Given the description of an element on the screen output the (x, y) to click on. 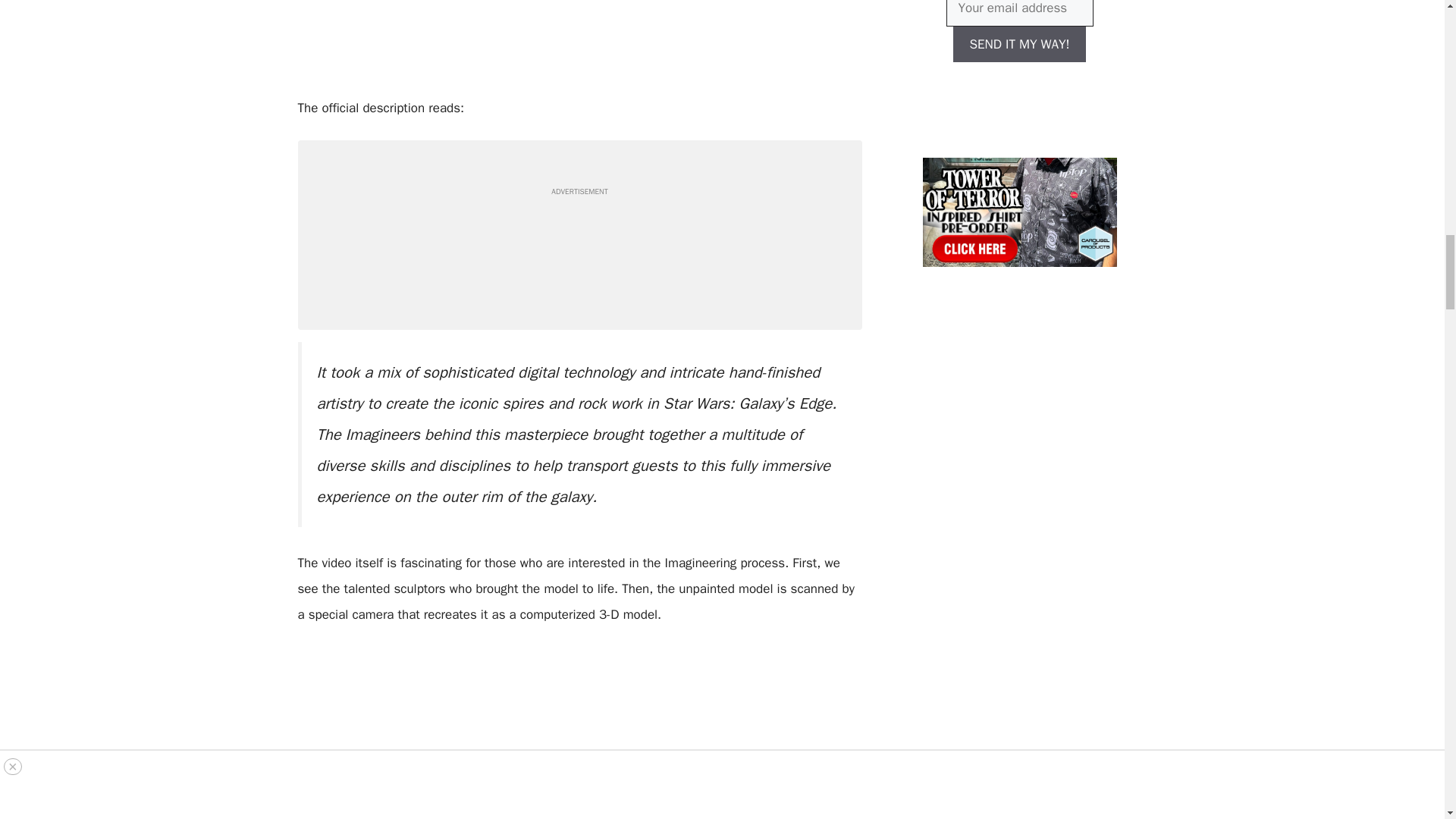
SEND IT MY WAY! (1018, 44)
YouTube player (579, 38)
